Given the description of an element on the screen output the (x, y) to click on. 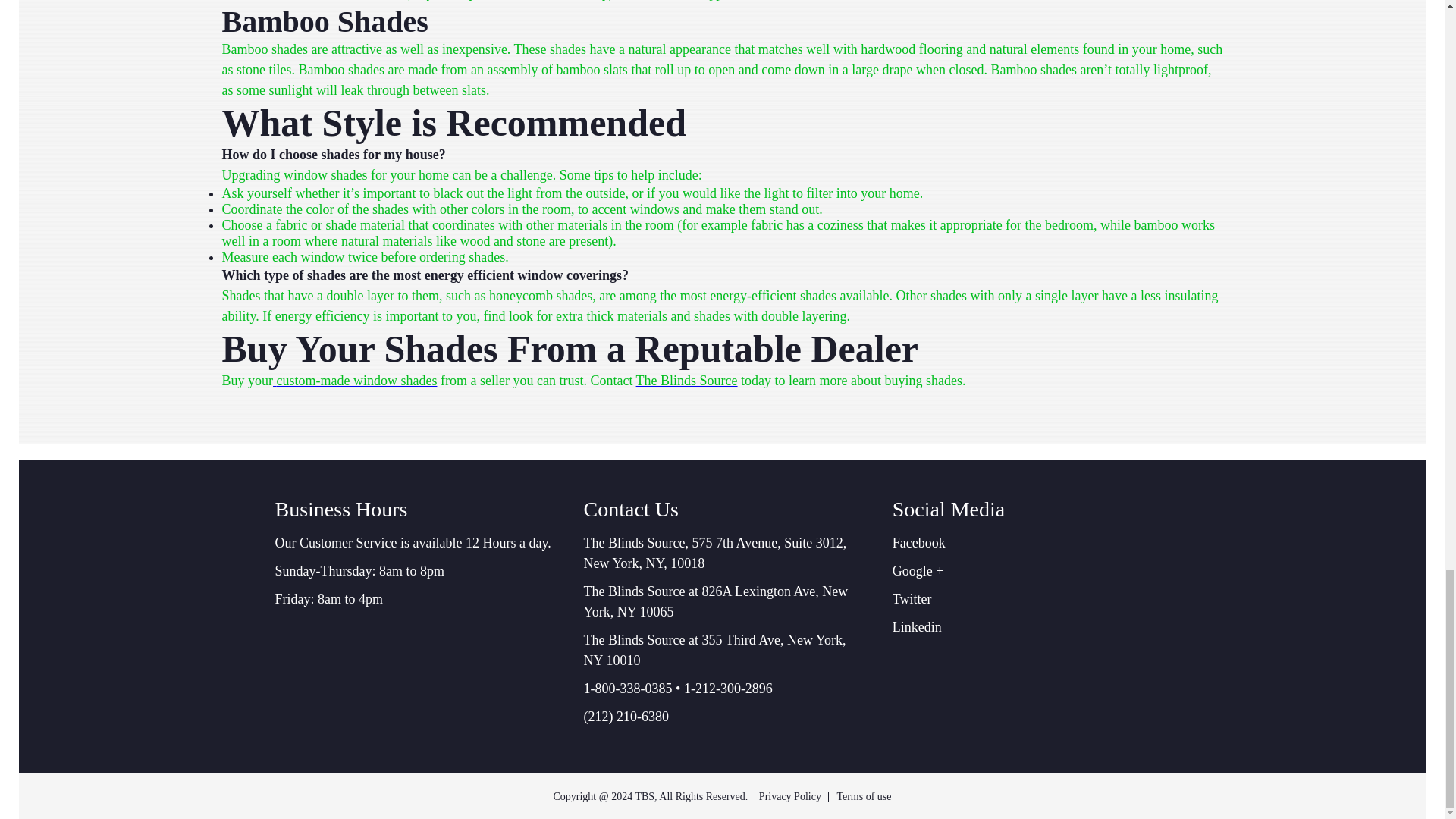
The Blinds Source (687, 380)
1-800-338-0385 (627, 688)
custom-made window shades (354, 380)
